Given the description of an element on the screen output the (x, y) to click on. 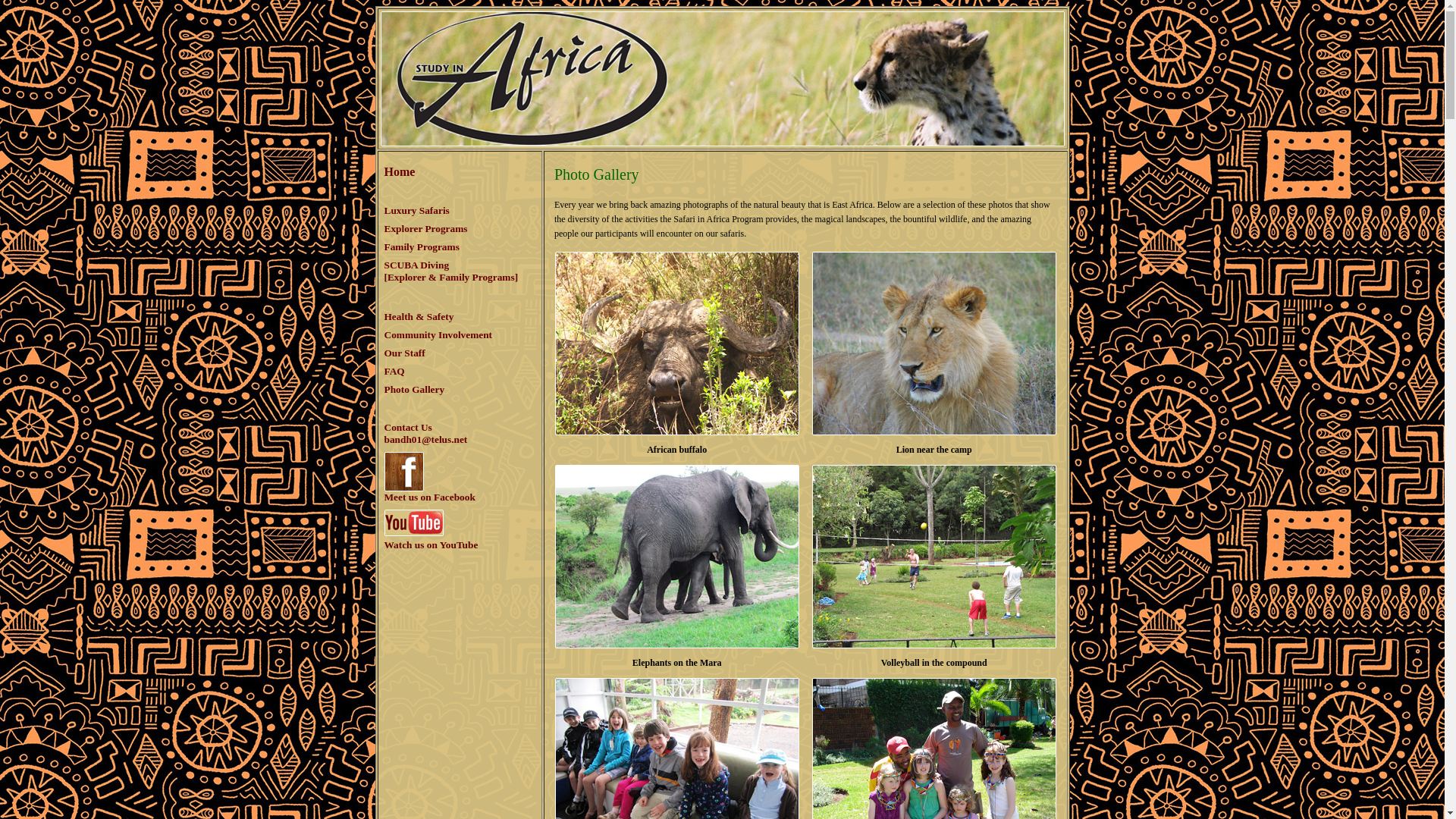
SCUBA Diving
[Explorer & Family Programs] Element type: text (450, 270)
Explorer Programs Element type: text (425, 228)
Meet us on Facebook Element type: text (428, 491)
Health & Safety Element type: text (418, 316)
Contact Us
bandh01@telus.net Element type: text (425, 433)
Community Involvement Element type: text (437, 334)
FAQ Element type: text (393, 370)
Luxury Safaris Element type: text (415, 210)
Photo Gallery Element type: text (413, 389)
Family Programs Element type: text (420, 246)
Our Staff Element type: text (403, 352)
Watch us on YouTube Element type: text (430, 537)
Home Element type: text (398, 171)
